Given the description of an element on the screen output the (x, y) to click on. 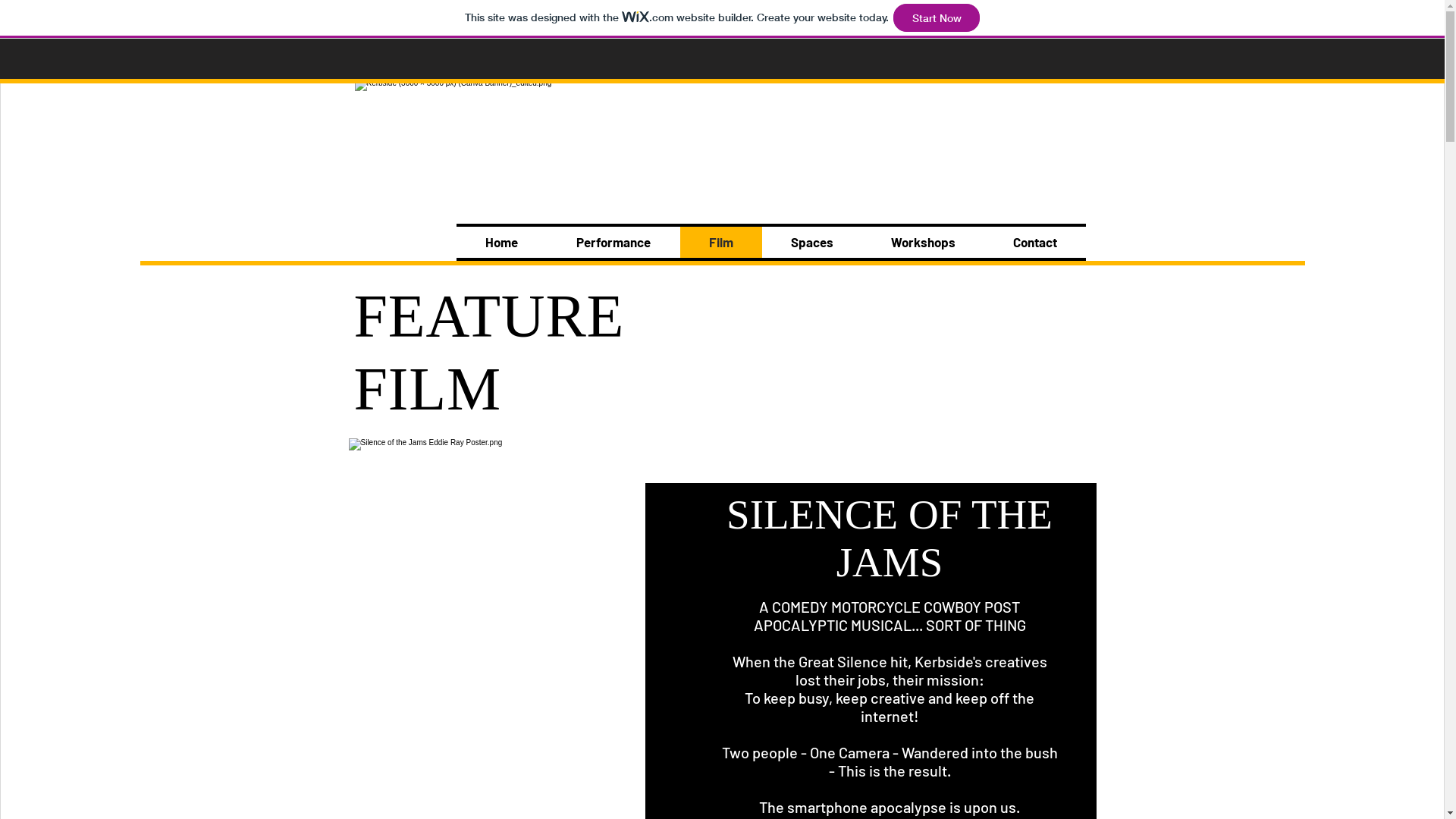
Film Element type: text (720, 241)
Spaces Element type: text (811, 241)
Home Element type: text (501, 241)
Performance Element type: text (613, 241)
Workshops Element type: text (922, 241)
Contact Element type: text (1034, 241)
